Given the description of an element on the screen output the (x, y) to click on. 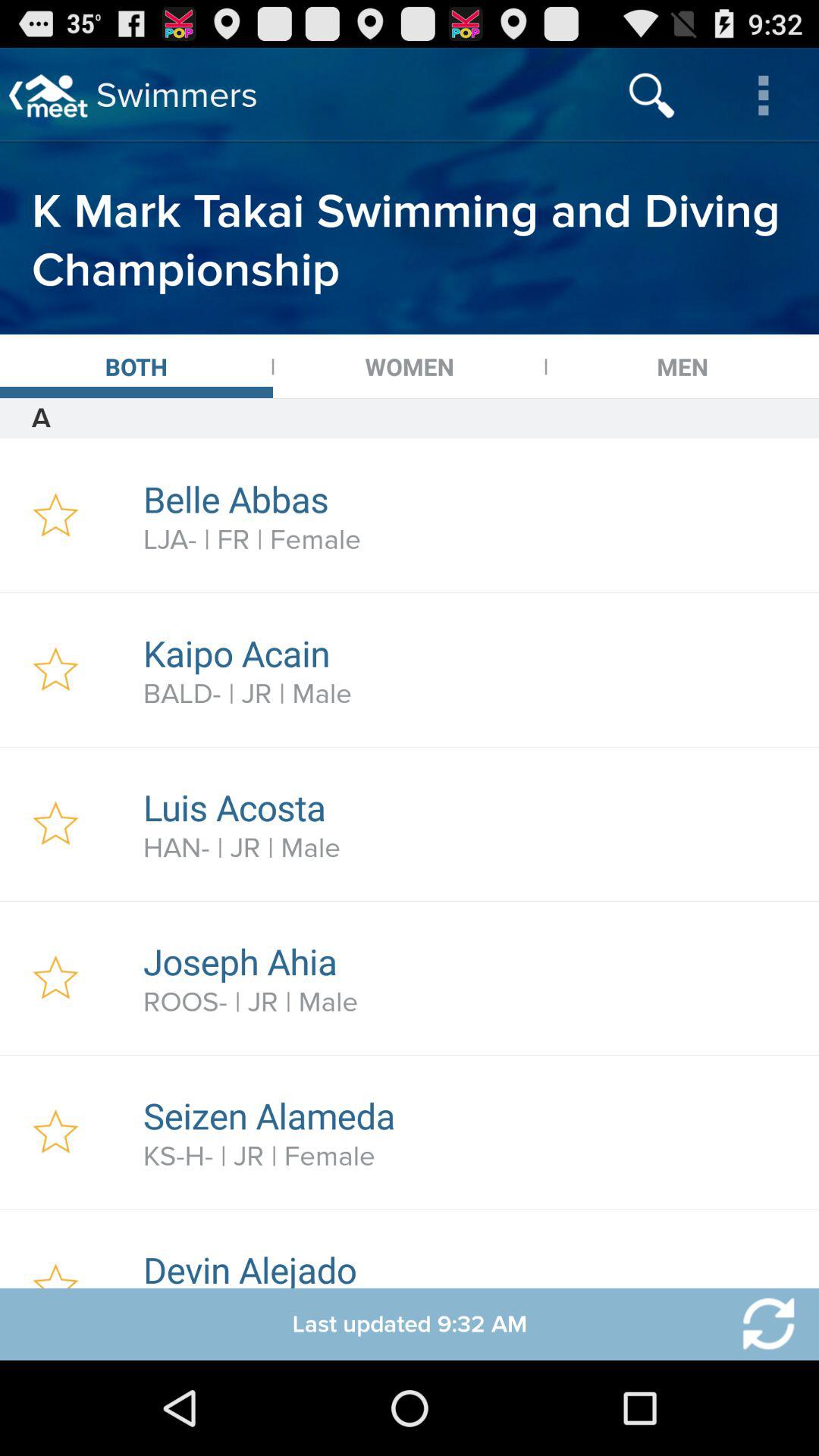
bookmark kaipo acain (55, 669)
